Given the description of an element on the screen output the (x, y) to click on. 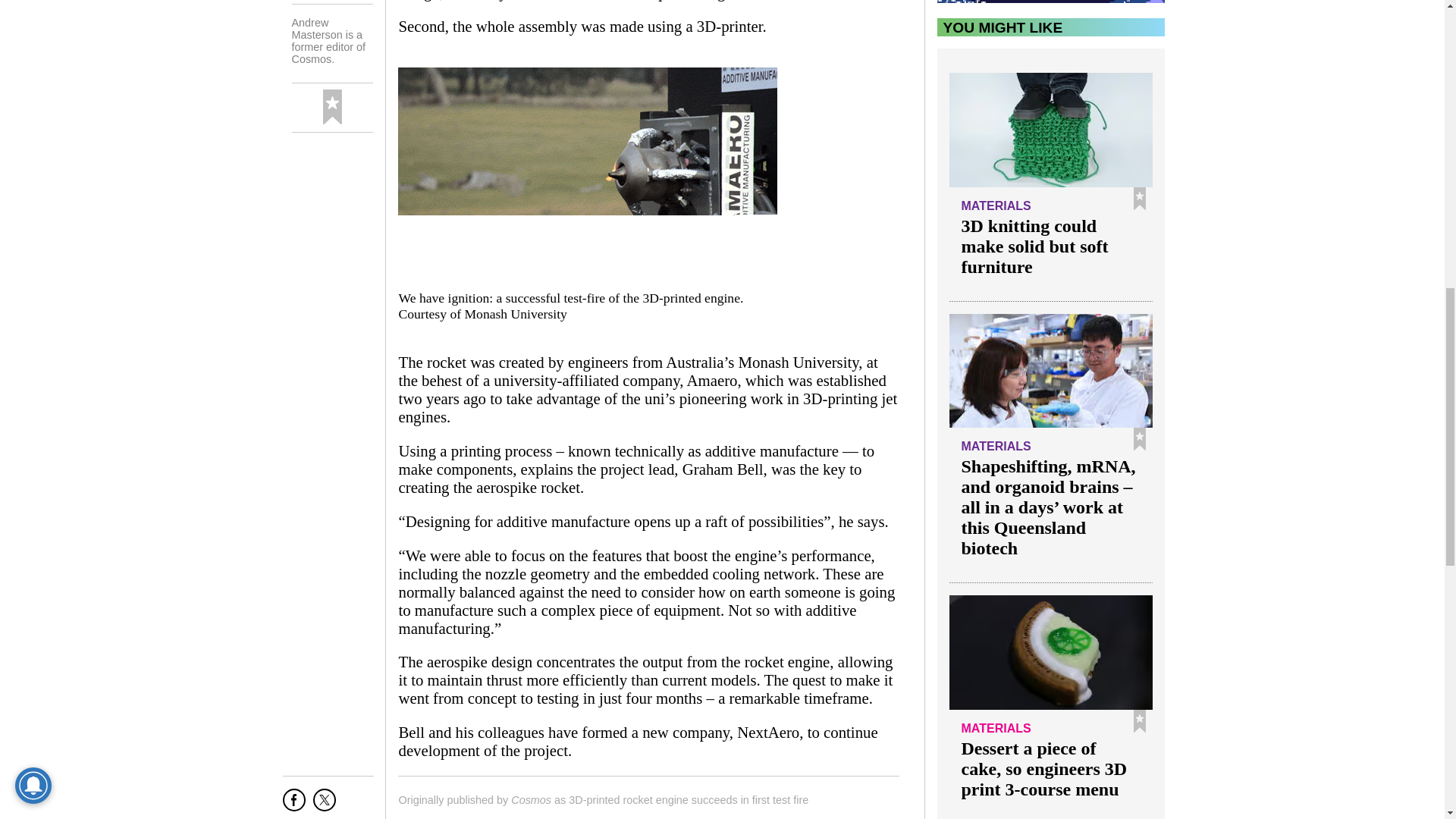
3D-printed rocket engine succeeds in first test fire (688, 799)
Share on Facebook (293, 805)
3d-printed rocket engine succeeds in first test fire 1 (587, 173)
Tweet (324, 805)
